Given the description of an element on the screen output the (x, y) to click on. 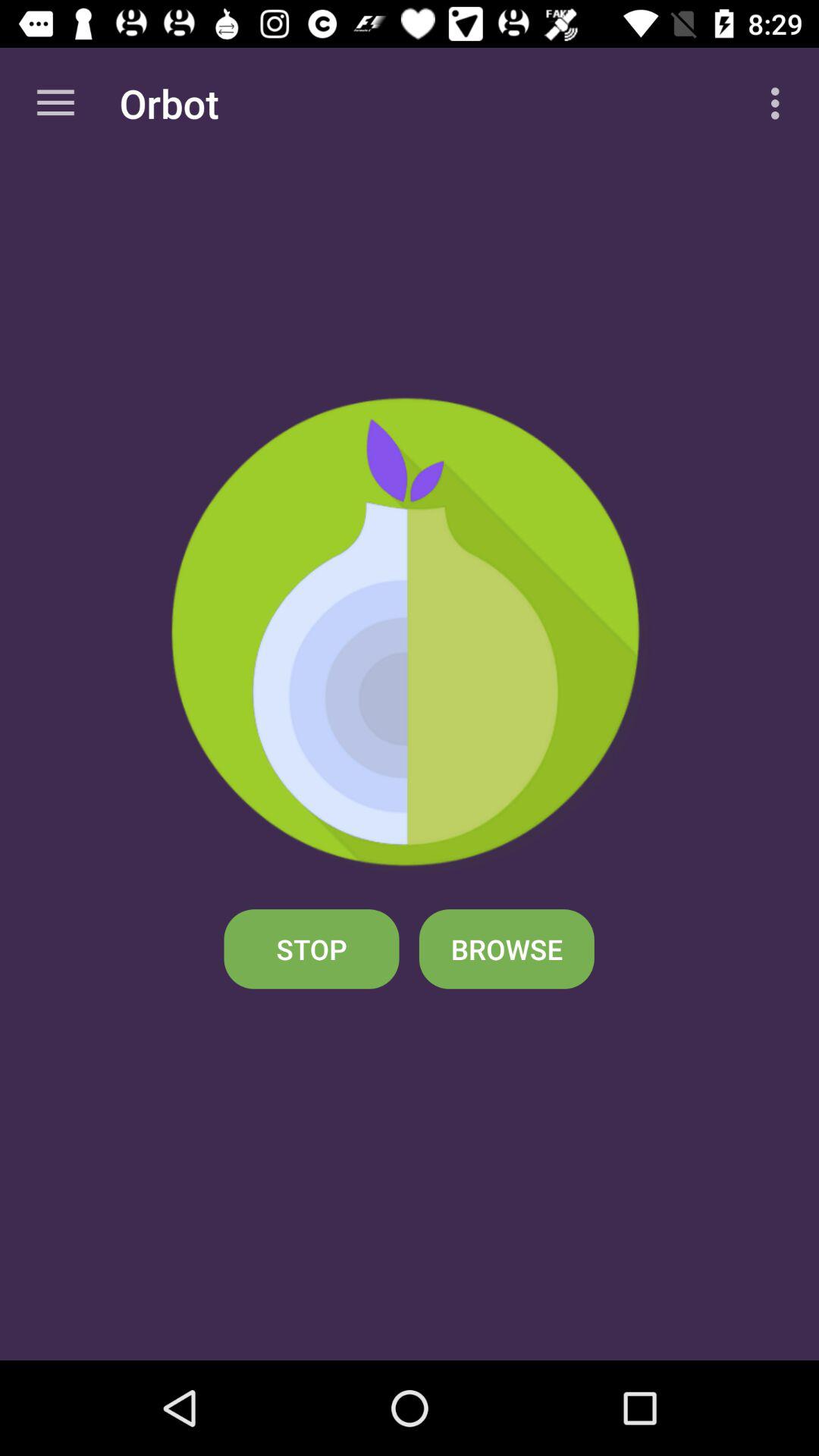
launch the item next to the browse (311, 949)
